Given the description of an element on the screen output the (x, y) to click on. 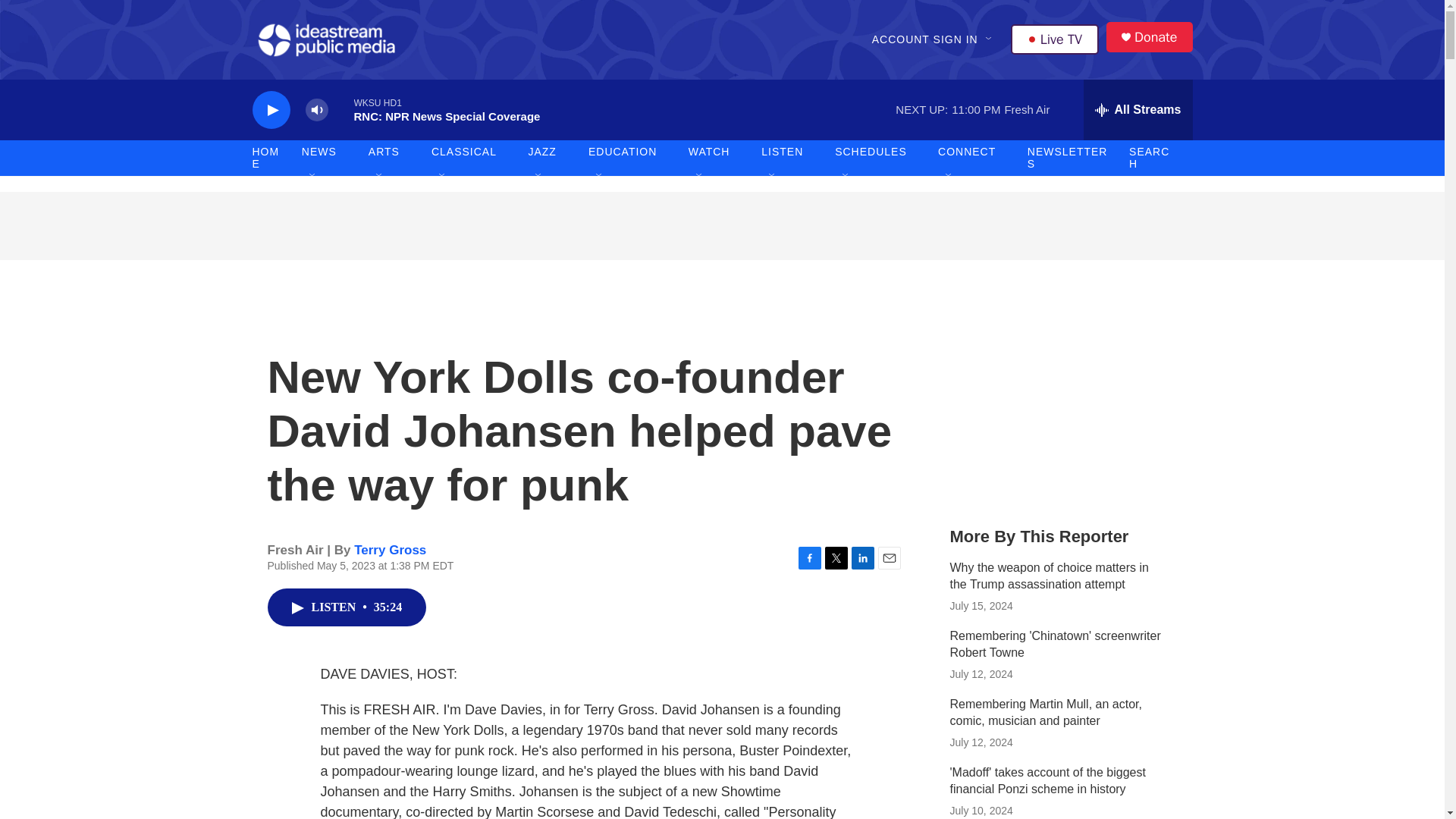
3rd party ad content (721, 225)
3rd party ad content (1062, 400)
